Given the description of an element on the screen output the (x, y) to click on. 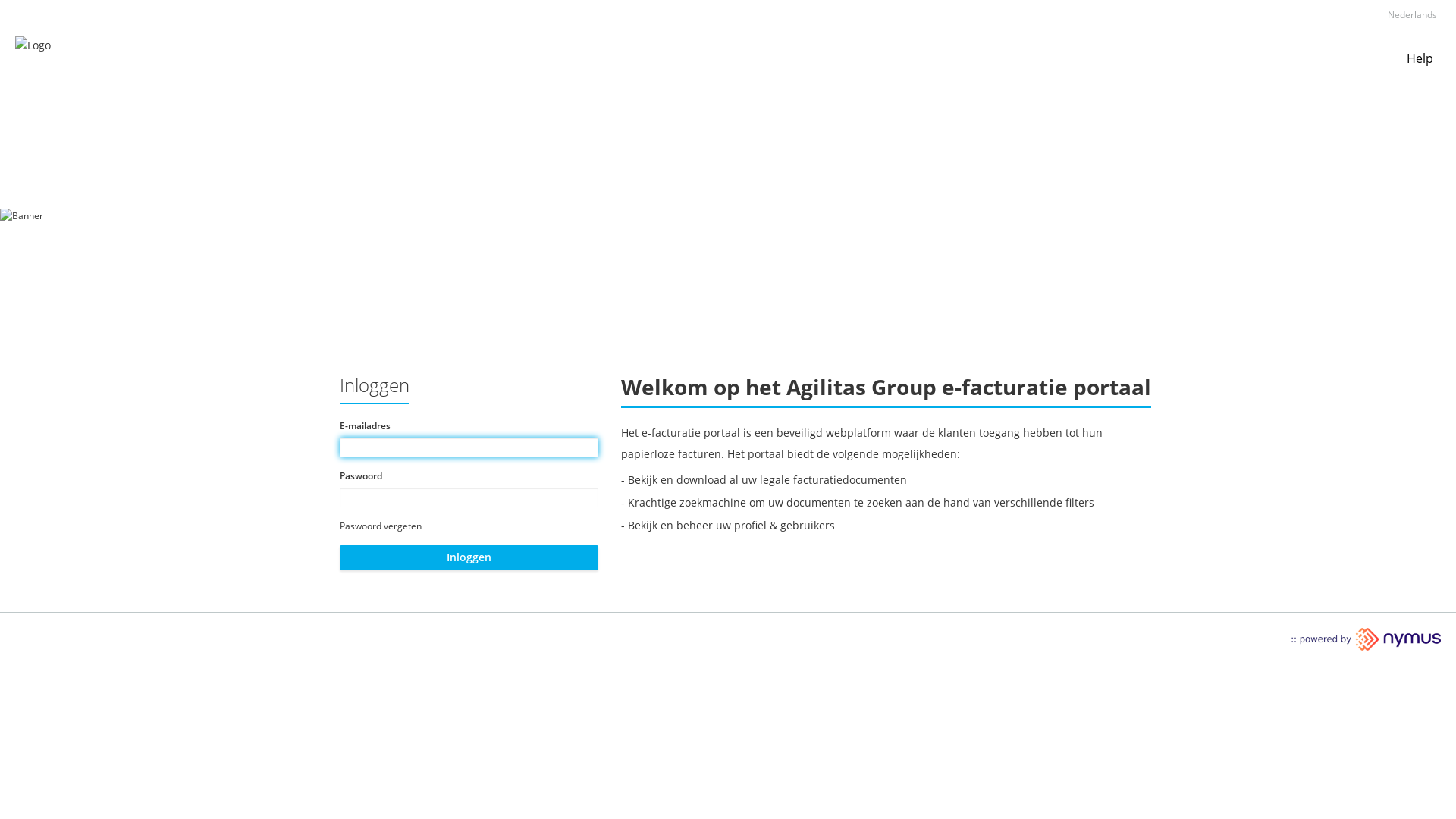
Inloggen Element type: text (468, 557)
Paswoord vergeten Element type: text (380, 525)
Help Element type: text (1419, 62)
Nederlands Element type: text (1412, 14)
